Given the description of an element on the screen output the (x, y) to click on. 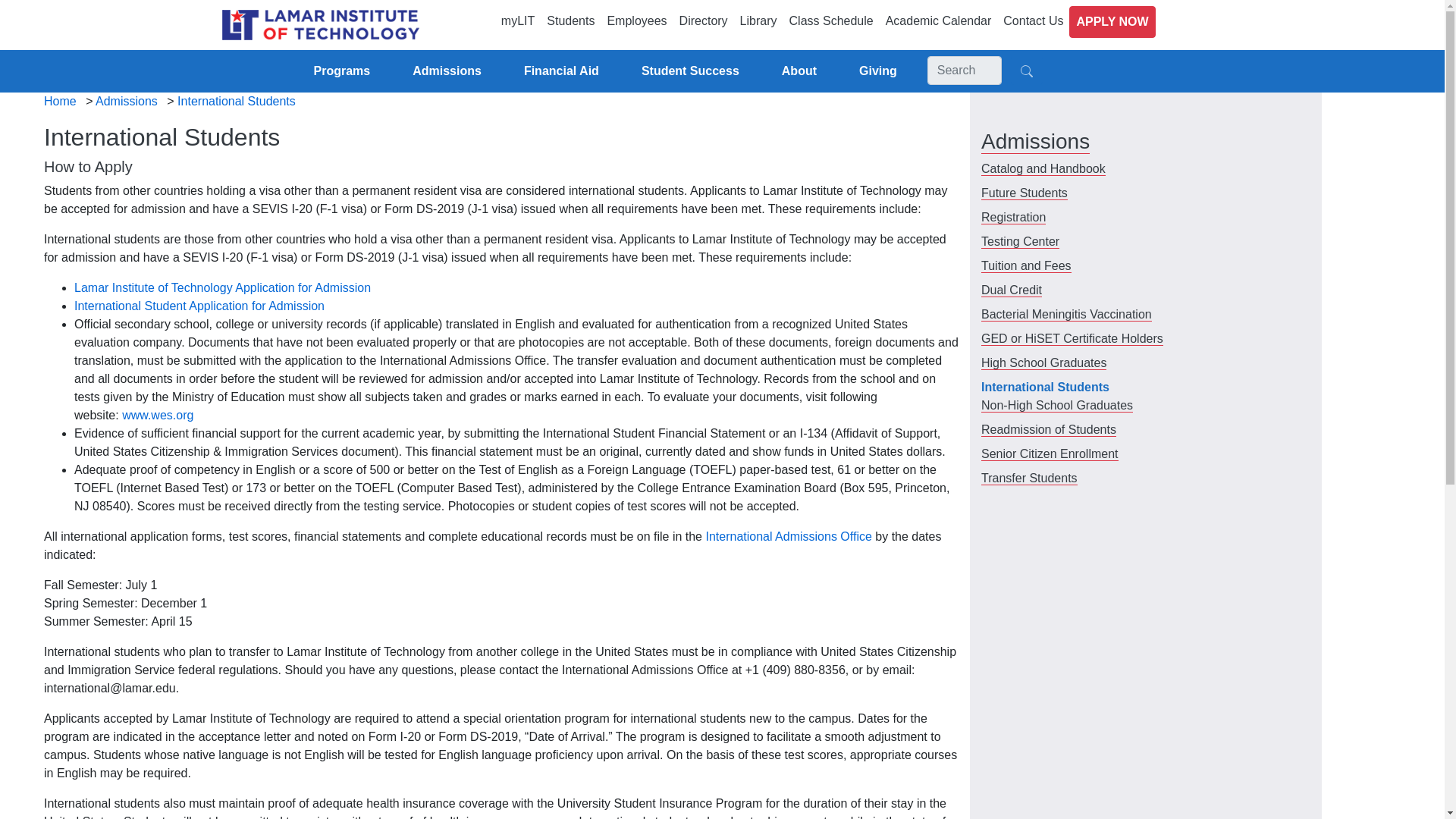
Library (758, 20)
Class Schedule (831, 20)
Directory (702, 20)
Employees (635, 20)
myLIT (517, 20)
APPLY NOW (1111, 21)
Contact Us (1032, 20)
Students (569, 20)
Academic Calendar (938, 20)
